Given the description of an element on the screen output the (x, y) to click on. 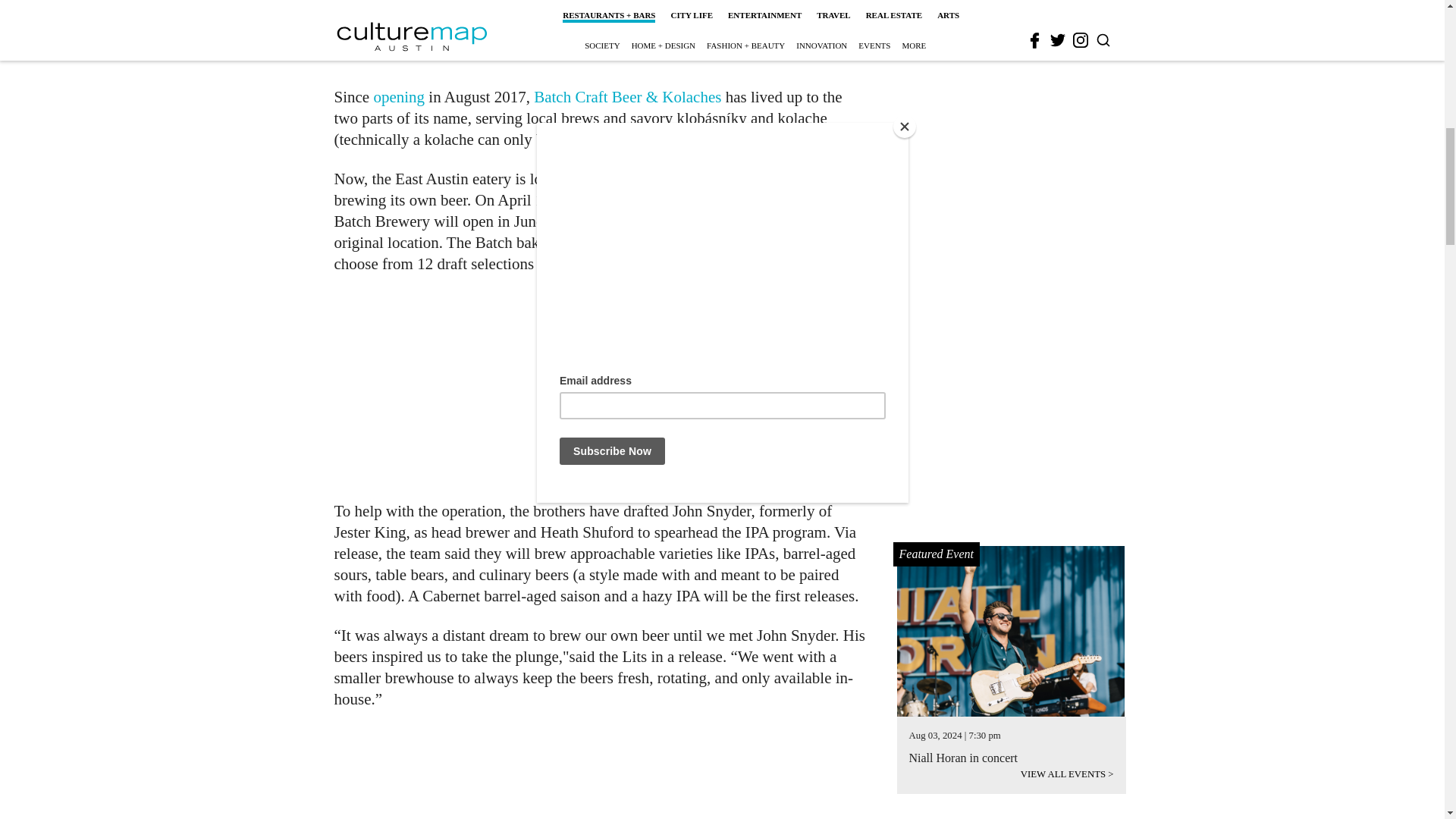
3rd party ad content (1011, 4)
3rd party ad content (600, 773)
3rd party ad content (600, 387)
